Given the description of an element on the screen output the (x, y) to click on. 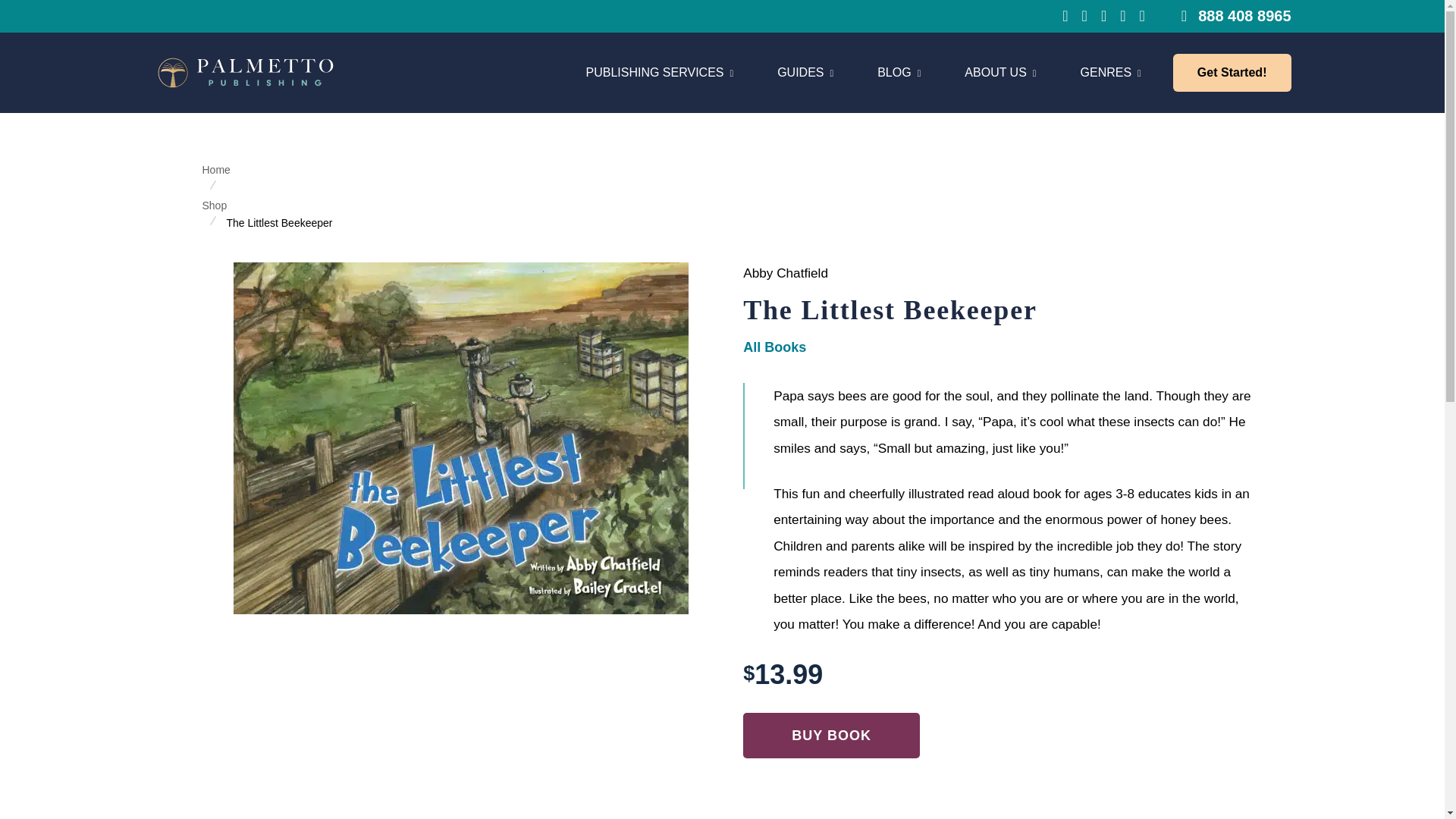
888 408 8965 (1235, 15)
ABOUT US (1000, 72)
GUIDES (804, 72)
PUBLISHING SERVICES (659, 72)
BLOG (899, 72)
